Given the description of an element on the screen output the (x, y) to click on. 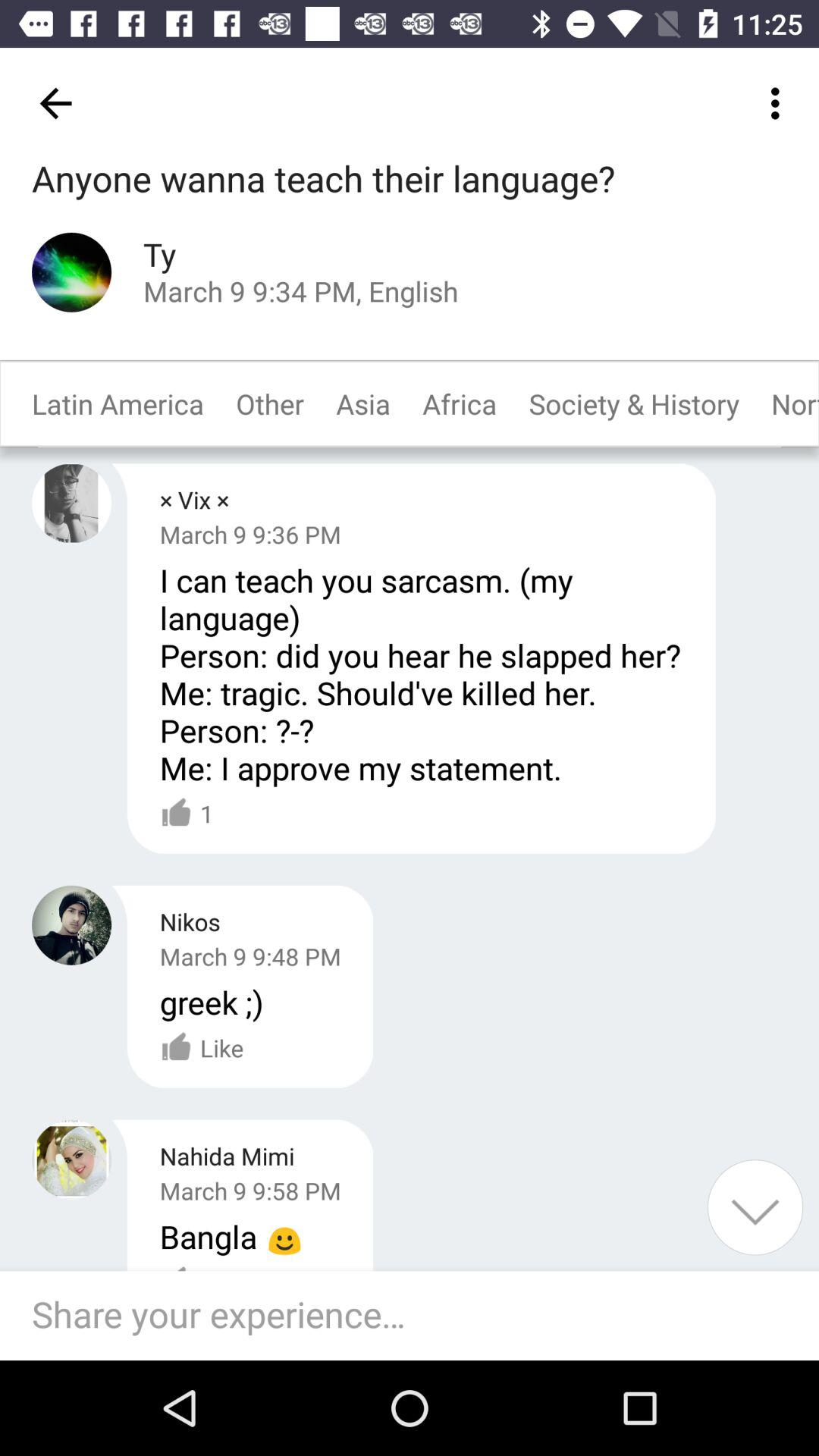
a button for scrolling down the screen (755, 1207)
